Given the description of an element on the screen output the (x, y) to click on. 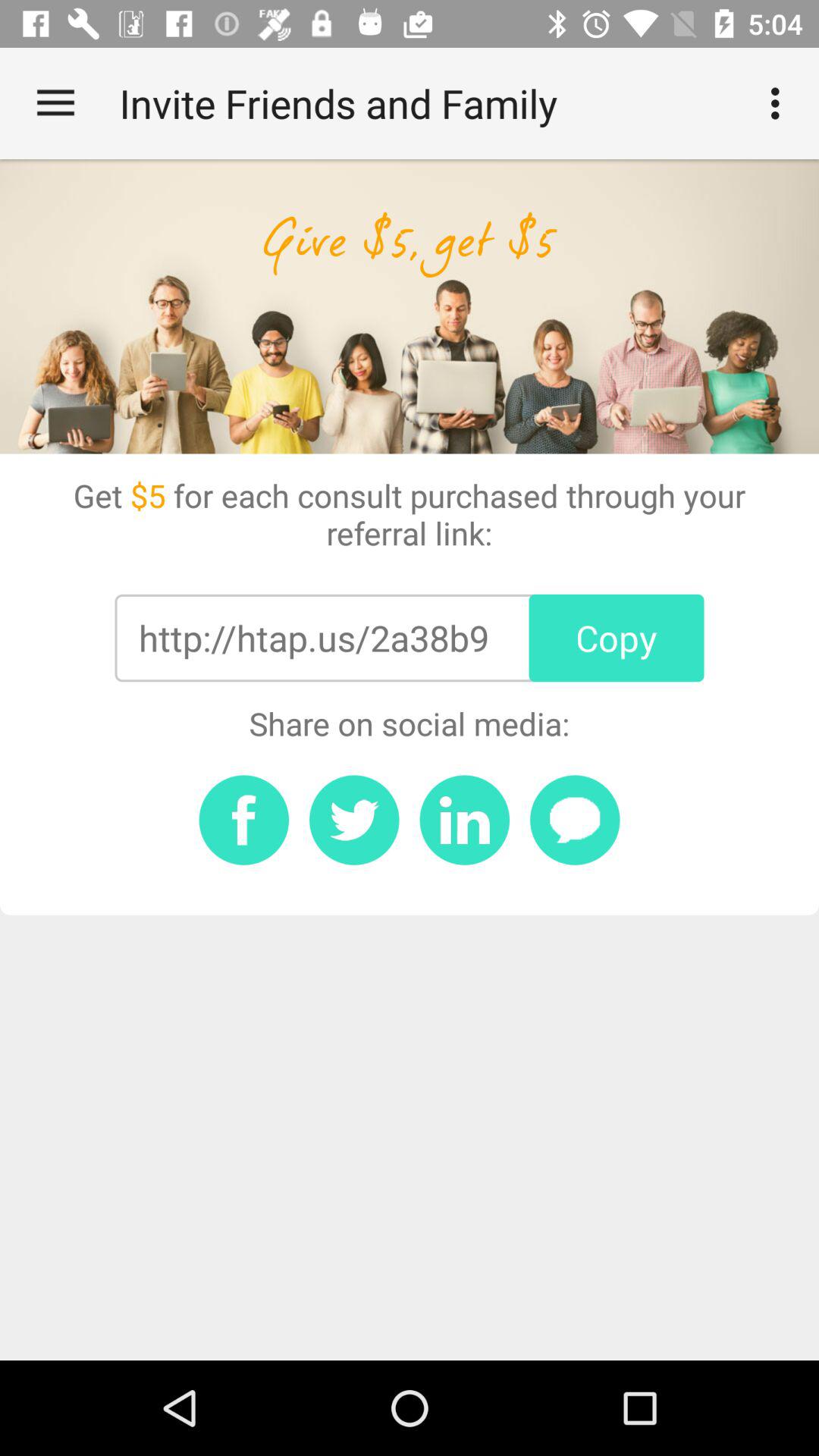
turn on app next to invite friends and app (55, 103)
